Given the description of an element on the screen output the (x, y) to click on. 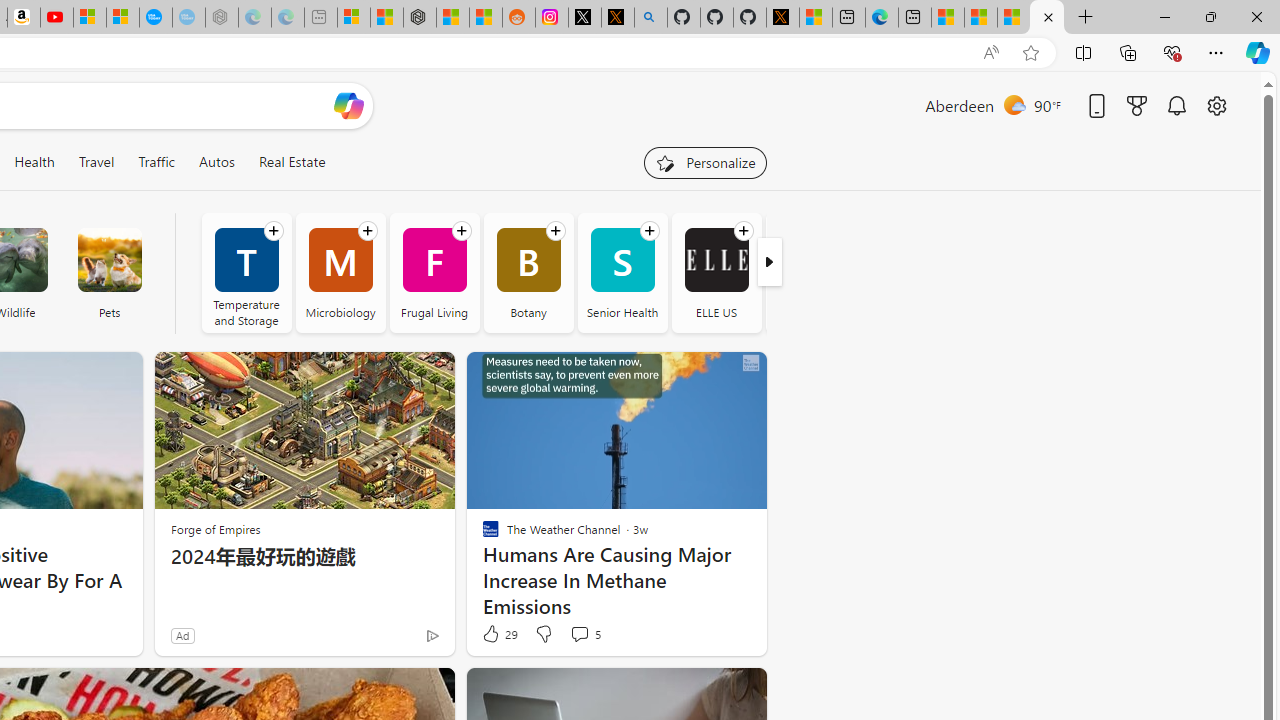
Shanghai, China Weather trends | Microsoft Weather (485, 17)
Dislike (542, 633)
Mostly sunny (1014, 104)
New tab - Sleeping (320, 17)
Microsoft account | Microsoft Account Privacy Settings (353, 17)
View comments 5 Comment (579, 633)
Travel (95, 161)
Log in to X / X (585, 17)
Real Estate (291, 161)
Senior Health (622, 272)
